Given the description of an element on the screen output the (x, y) to click on. 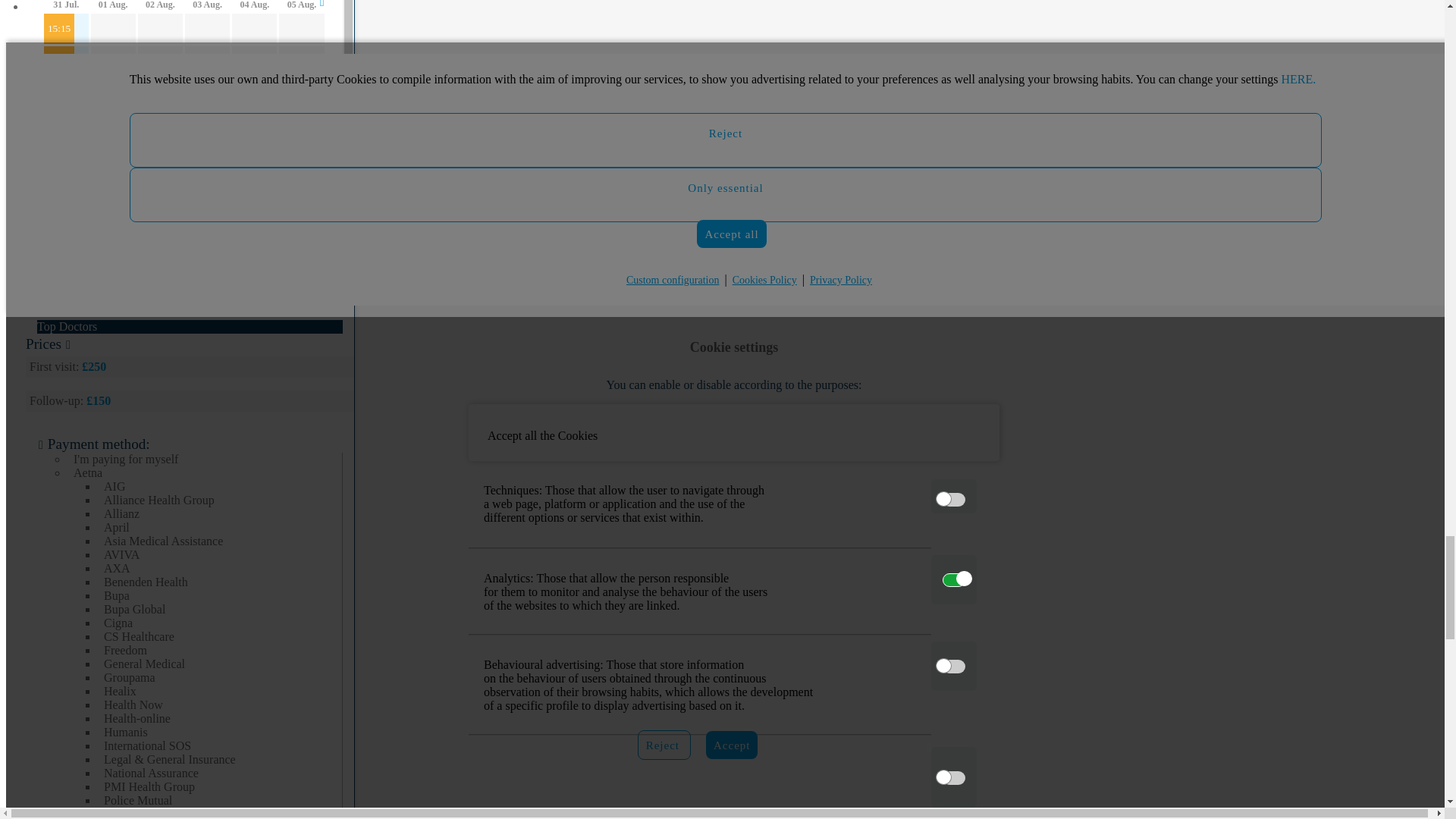
15:30 (58, 60)
15:45 (58, 93)
15:15 (58, 28)
Enter (238, 285)
